Given the description of an element on the screen output the (x, y) to click on. 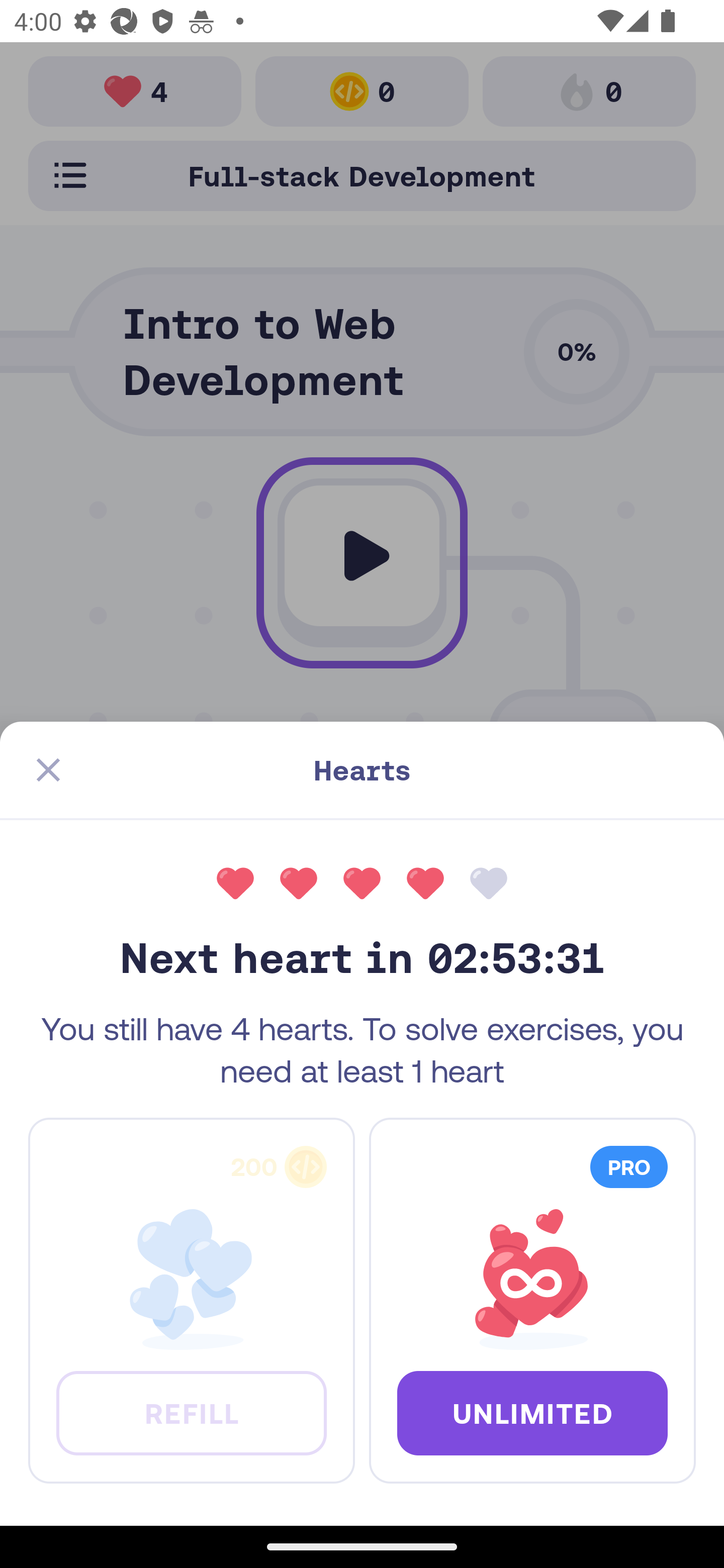
Close (47, 769)
REFILL (191, 1412)
UNLIMITED (532, 1412)
